Given the description of an element on the screen output the (x, y) to click on. 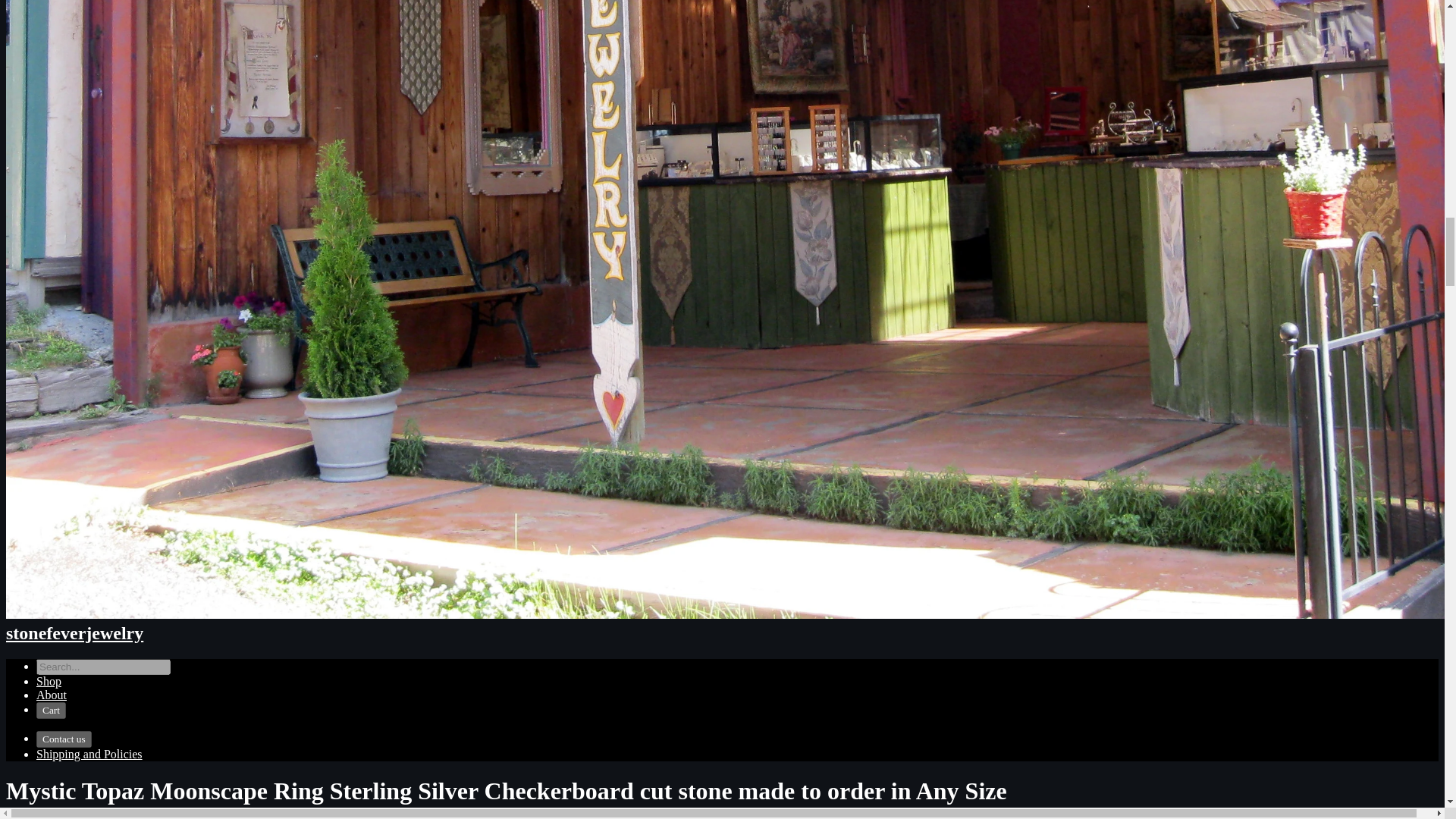
Contact us (63, 739)
About (51, 694)
Shop (48, 680)
Cart (50, 710)
Shipping and Policies (89, 753)
